Given the description of an element on the screen output the (x, y) to click on. 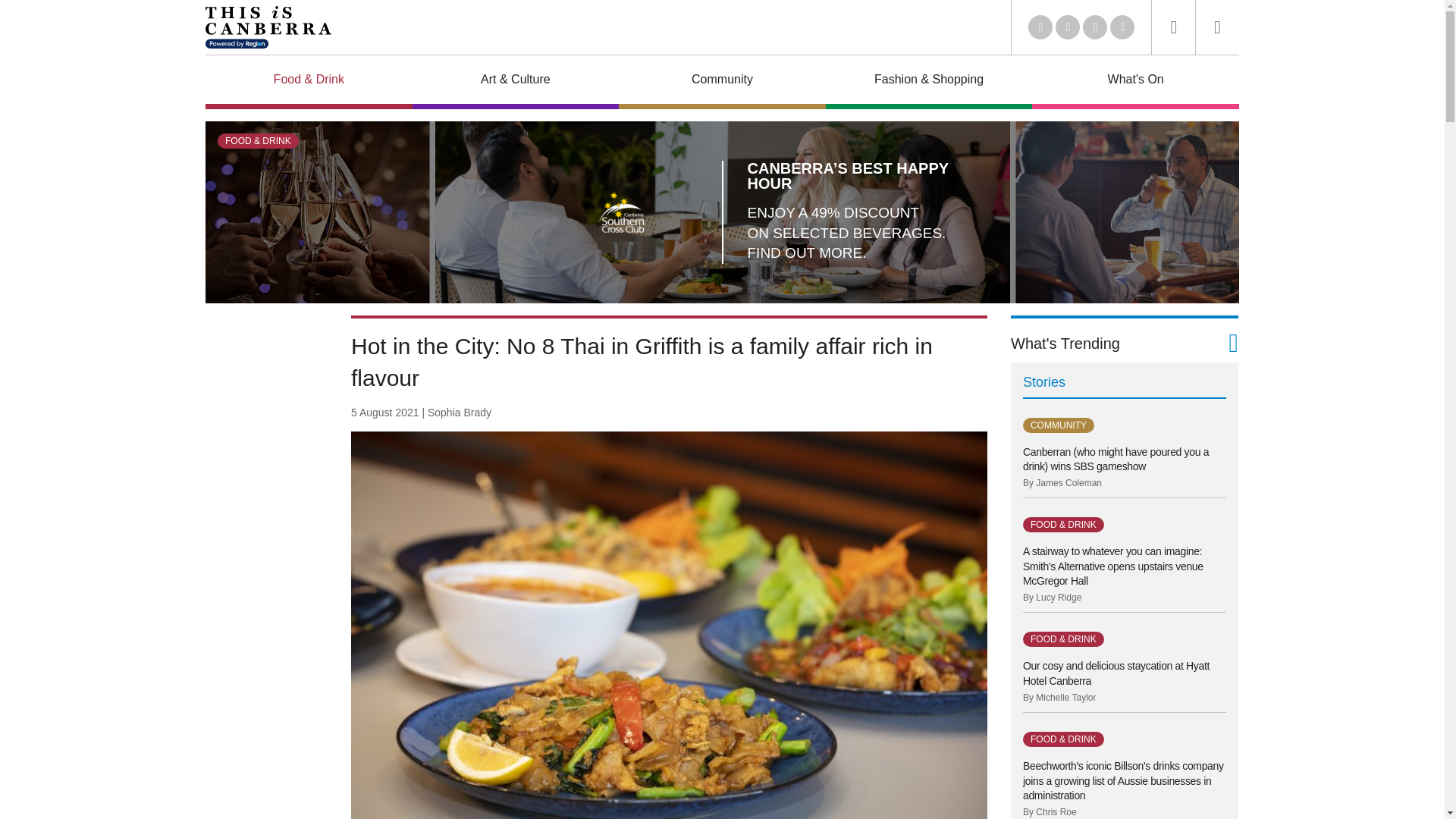
This is Canberra Home (268, 26)
Facebook (1067, 27)
Twitter (1039, 27)
Instagram (1094, 27)
TikTok (1121, 27)
Community (721, 81)
